Given the description of an element on the screen output the (x, y) to click on. 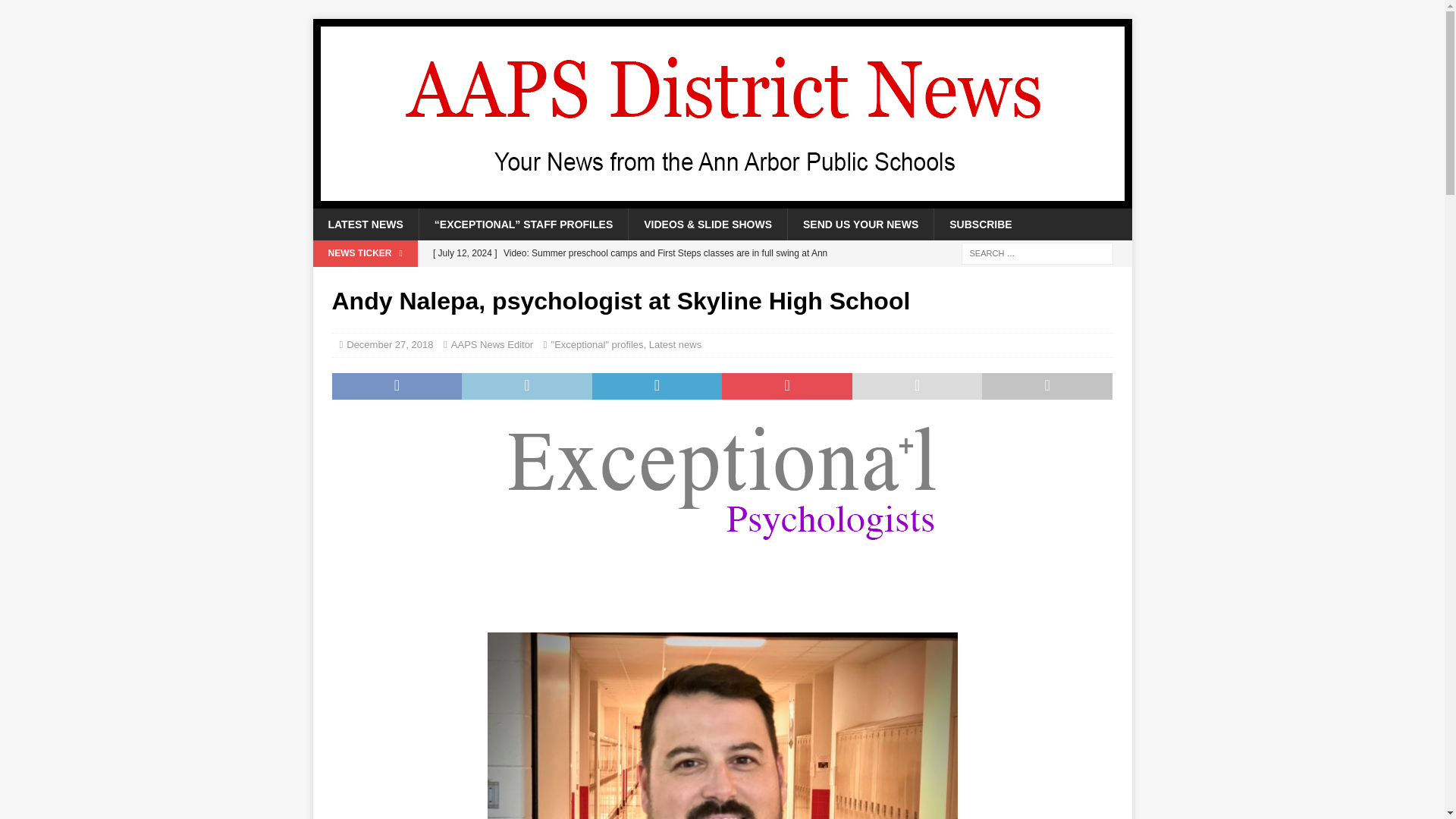
Latest news (675, 344)
"Exceptional" profiles (597, 344)
SUBSCRIBE (979, 224)
AAPS District News (722, 200)
LATEST NEWS (365, 224)
AAPS News Editor (491, 344)
Search (56, 11)
SEND US YOUR NEWS (860, 224)
December 27, 2018 (389, 344)
